Given the description of an element on the screen output the (x, y) to click on. 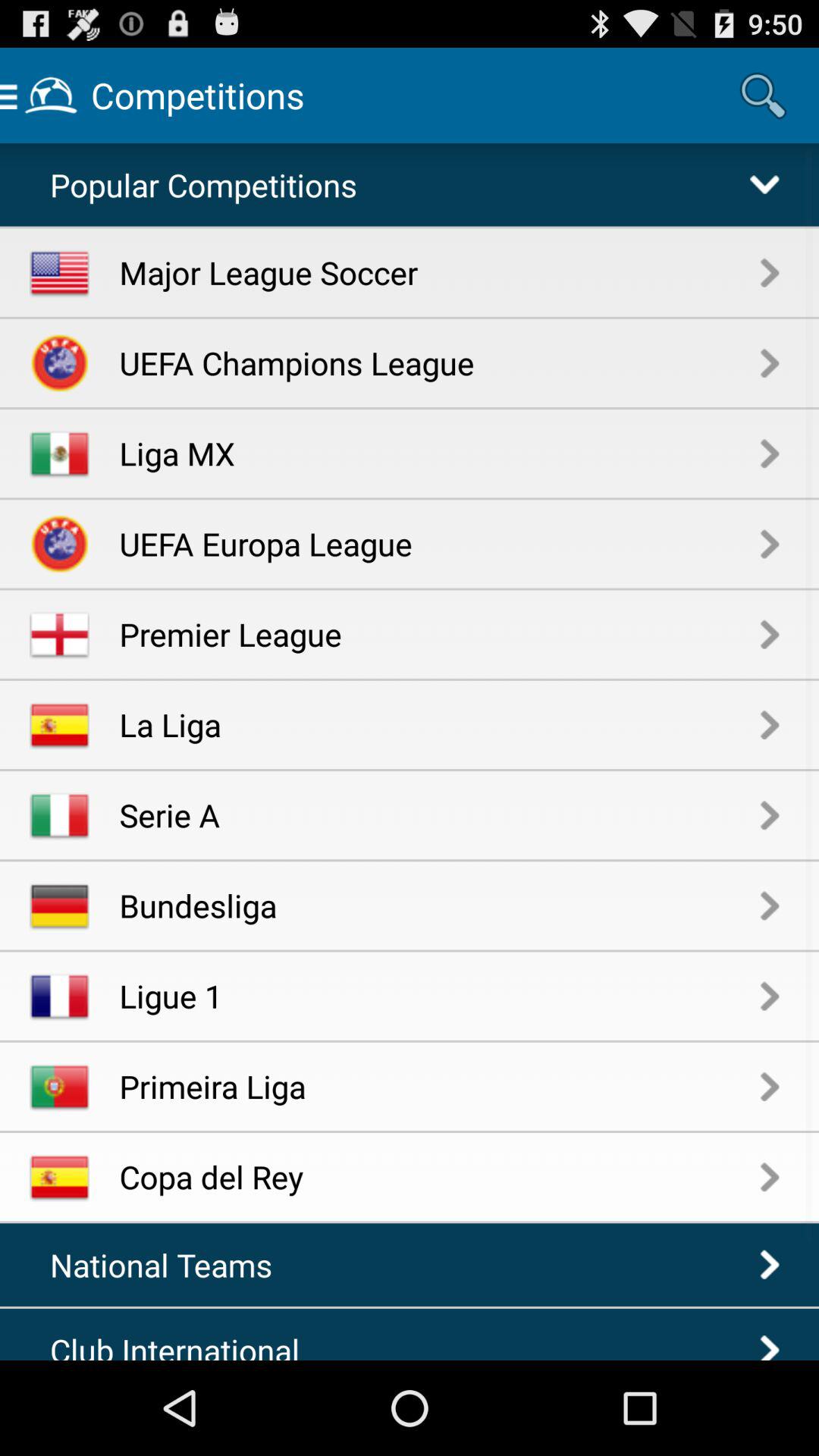
press the copa del rey item (439, 1176)
